Given the description of an element on the screen output the (x, y) to click on. 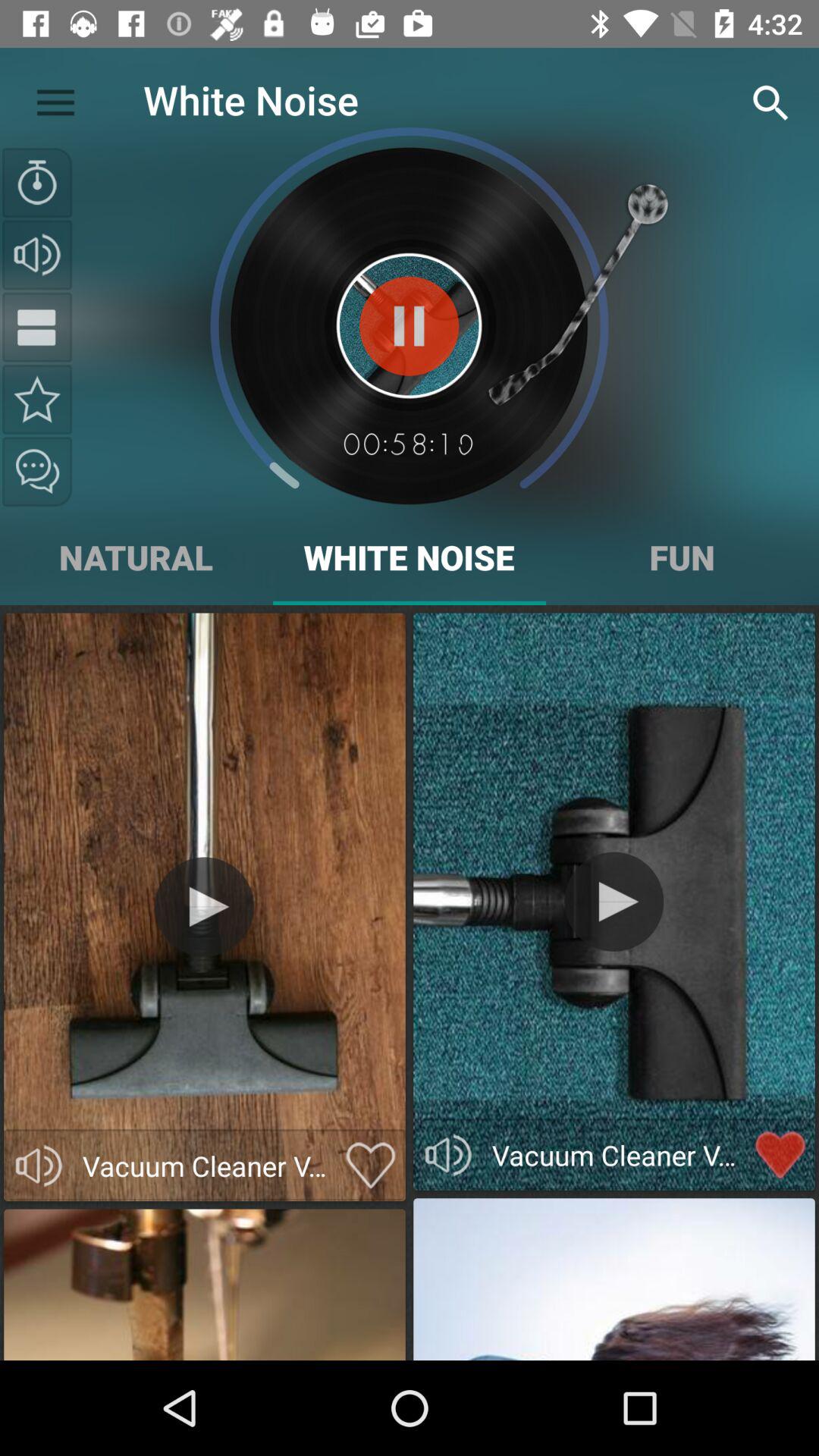
share the sound (37, 471)
